Given the description of an element on the screen output the (x, y) to click on. 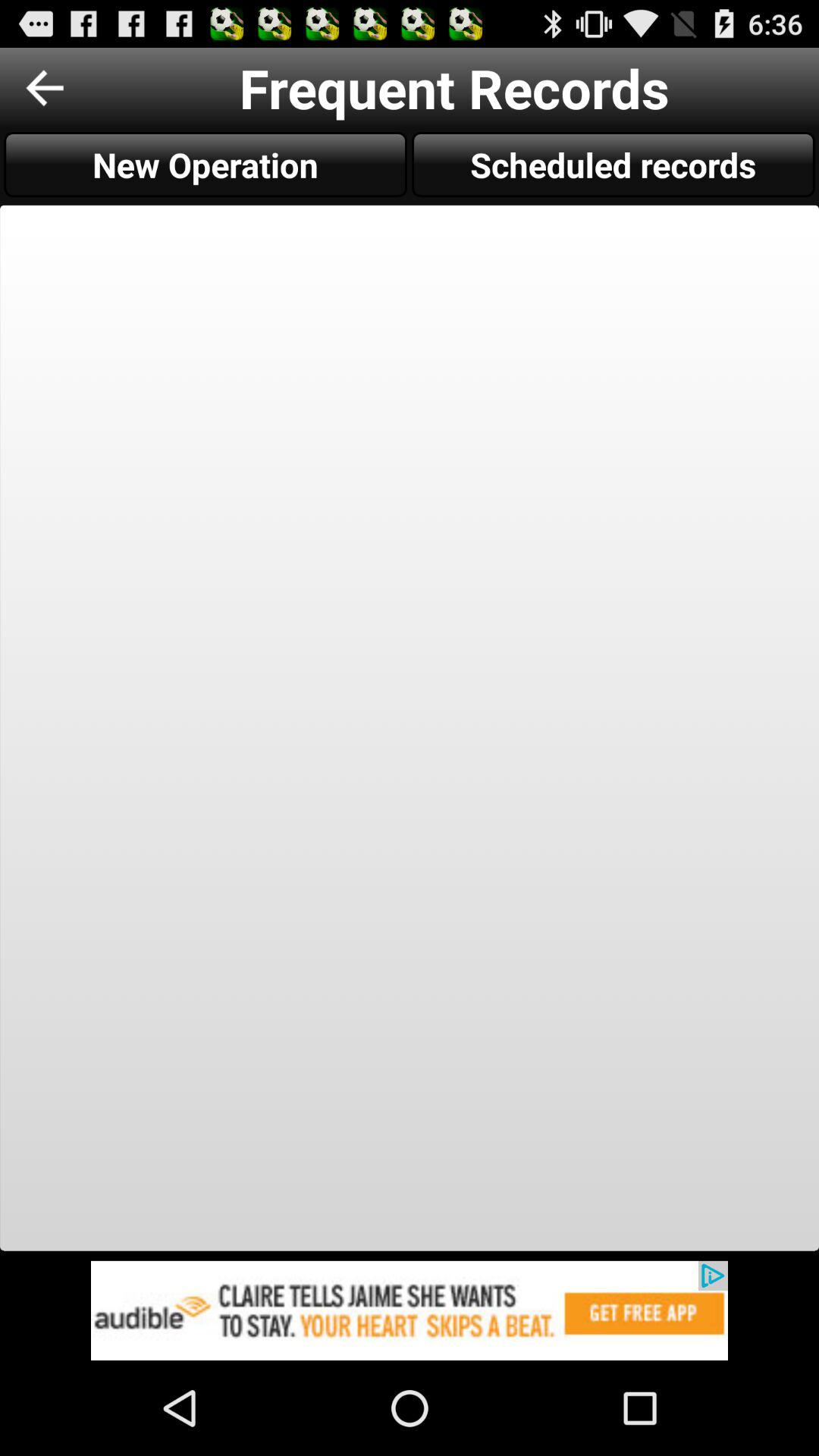
advertisement about audible (409, 1310)
